Given the description of an element on the screen output the (x, y) to click on. 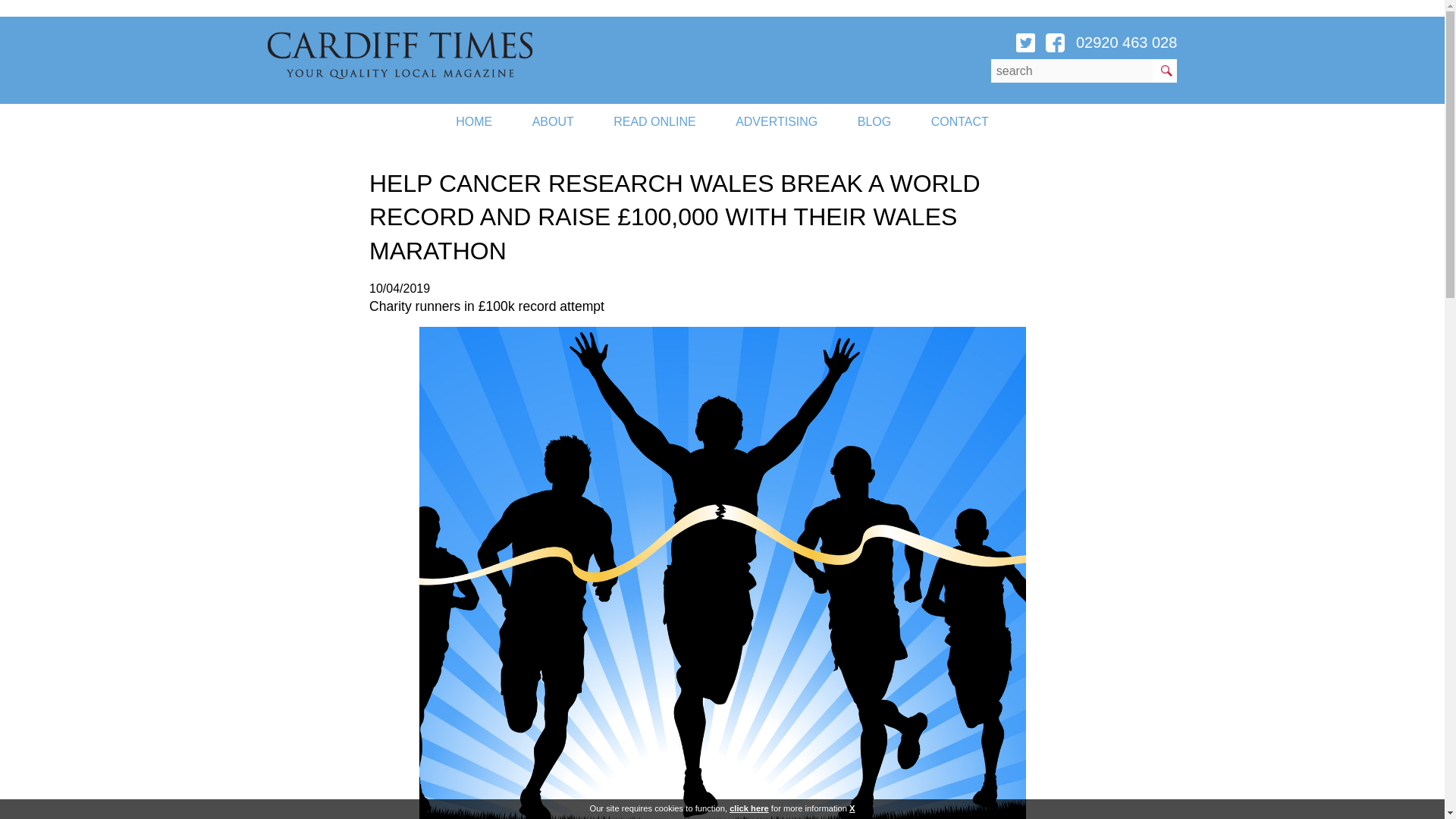
CONTACT (959, 122)
ABOUT (552, 122)
BLOG (874, 122)
click here (748, 808)
HOME (474, 122)
02920 463 028 (1125, 42)
READ ONLINE (654, 122)
ADVERTISING (776, 122)
